Given the description of an element on the screen output the (x, y) to click on. 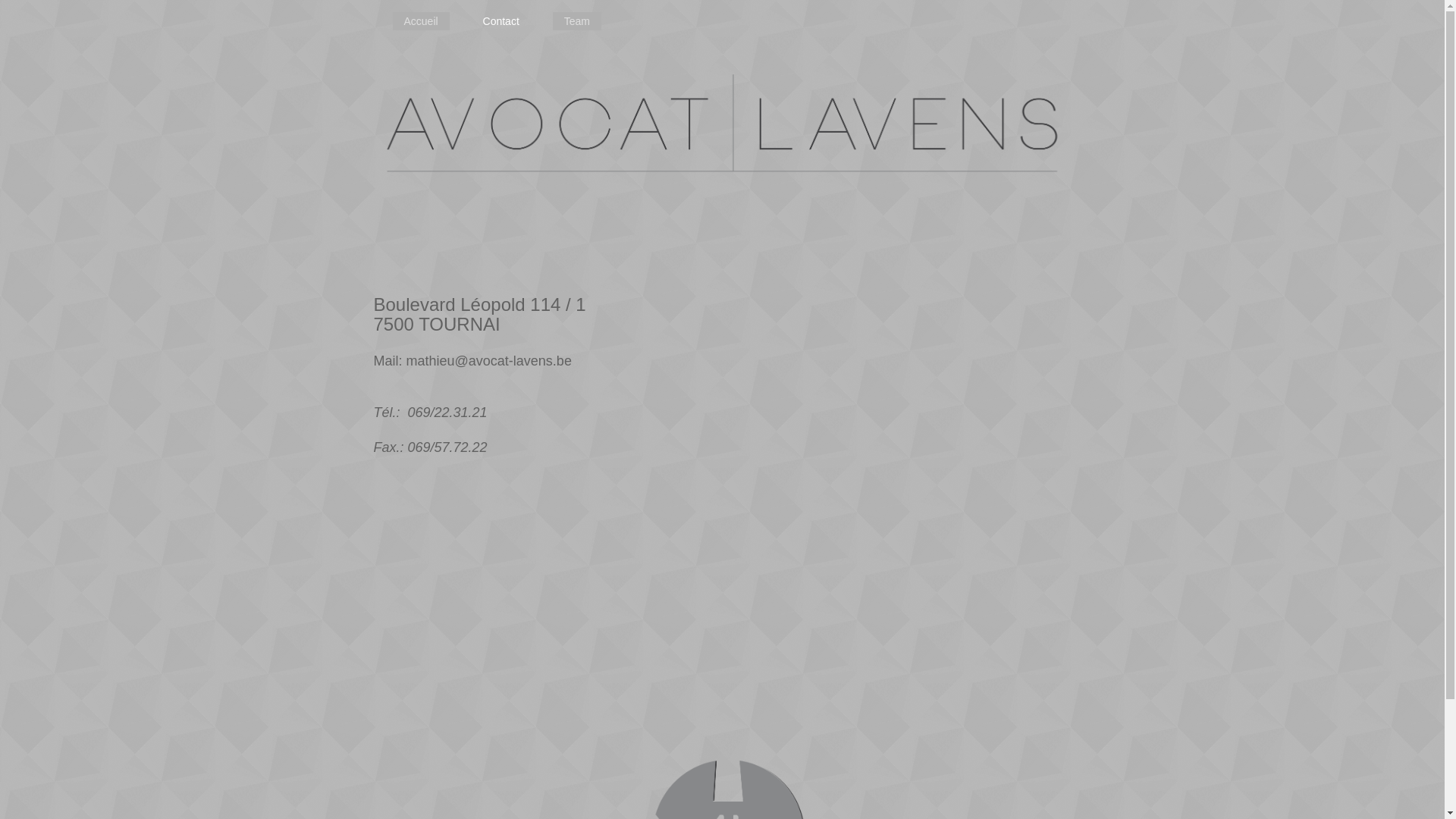
Team Element type: text (576, 21)
Contact Element type: text (500, 21)
Accueil Element type: text (420, 21)
